Given the description of an element on the screen output the (x, y) to click on. 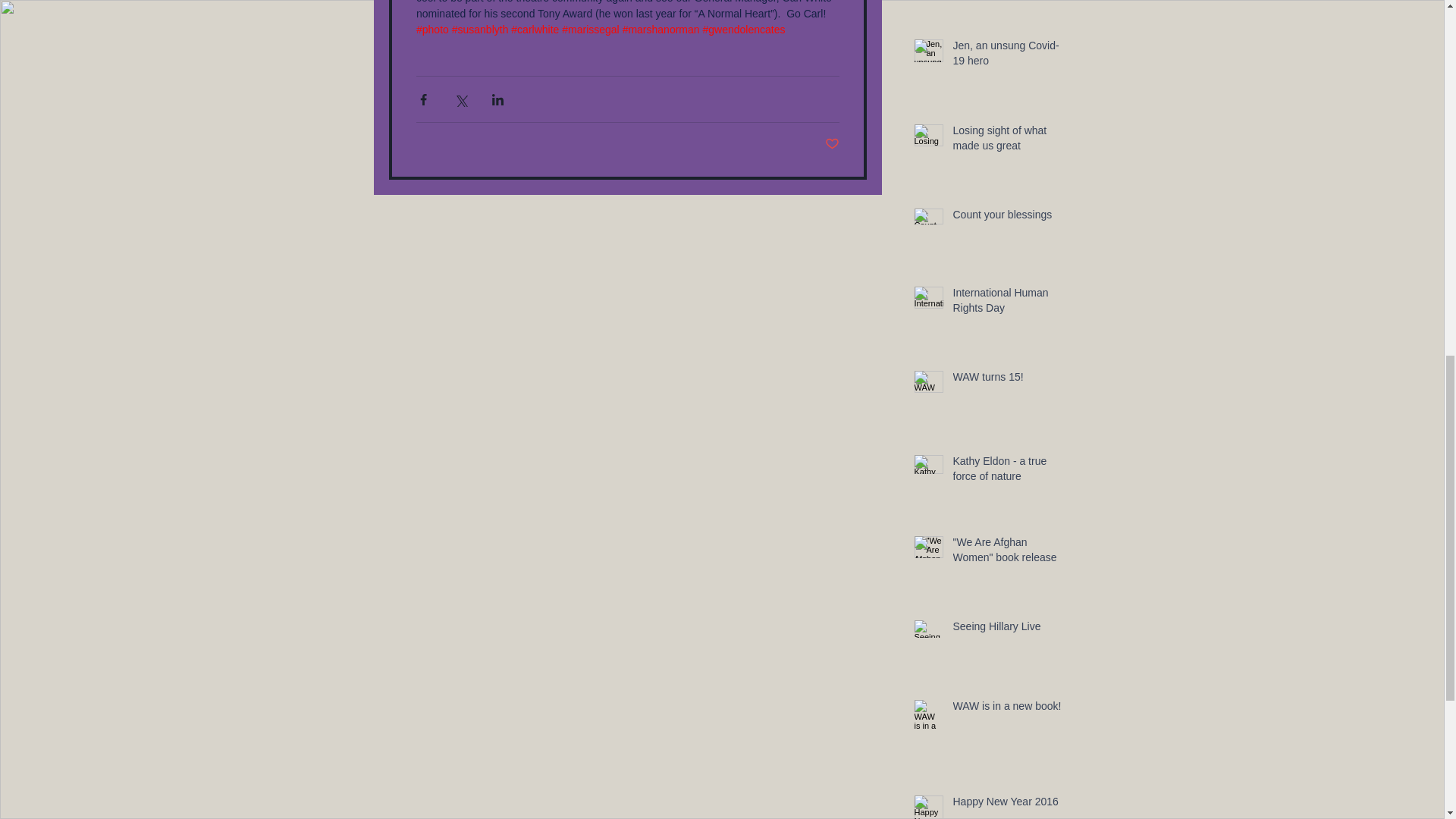
International Human Rights Day (1006, 303)
WAW turns 15! (1006, 380)
Losing sight of what made us great (1006, 140)
Jen, an unsung Covid-19 hero (1006, 56)
Happy New Year 2016 (1006, 804)
"We Are Afghan Women" book release (1006, 552)
Post not marked as liked (832, 144)
Seeing Hillary Live (1006, 629)
Count your blessings (1006, 218)
WAW is in a new book! (1006, 709)
Kathy Eldon - a true force of nature (1006, 471)
